Given the description of an element on the screen output the (x, y) to click on. 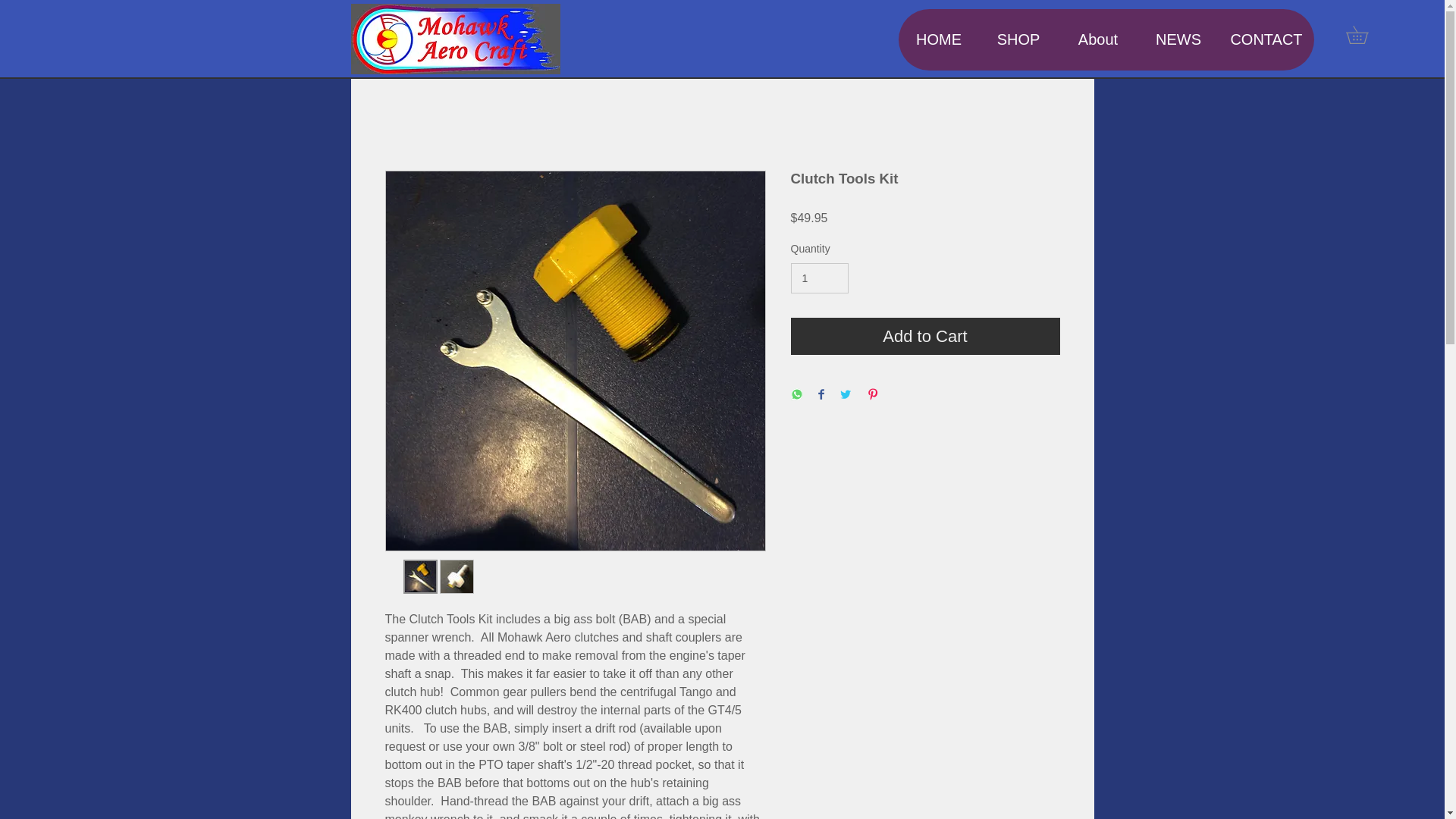
MAC logo lg Blk.JPG (454, 39)
About (1097, 39)
1 (818, 278)
NEWS (1177, 39)
Add to Cart (924, 335)
CONTACT (1265, 39)
SHOP (1017, 39)
HOME (938, 39)
